Given the description of an element on the screen output the (x, y) to click on. 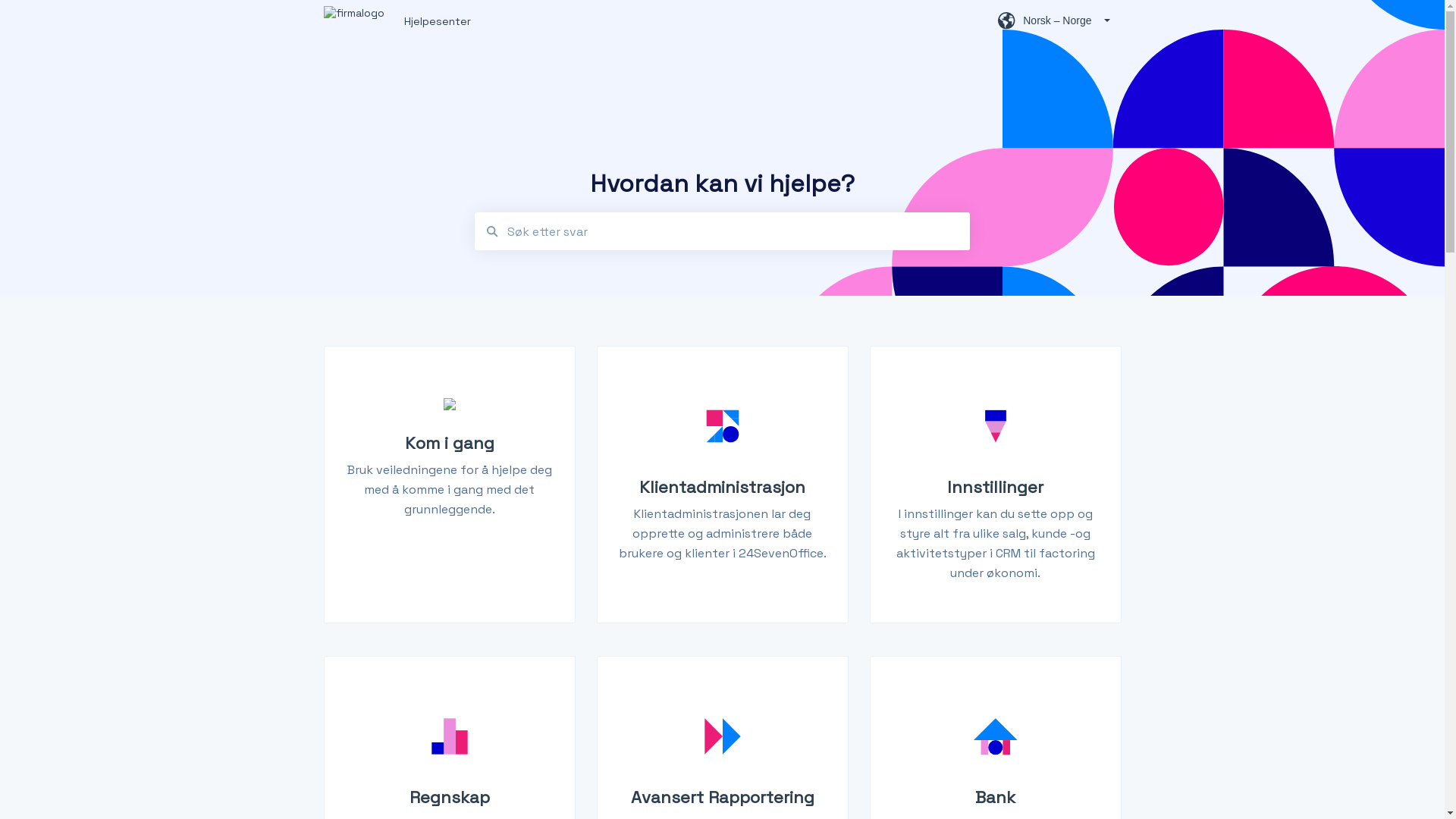
Hjelpesenter Element type: text (678, 20)
